Given the description of an element on the screen output the (x, y) to click on. 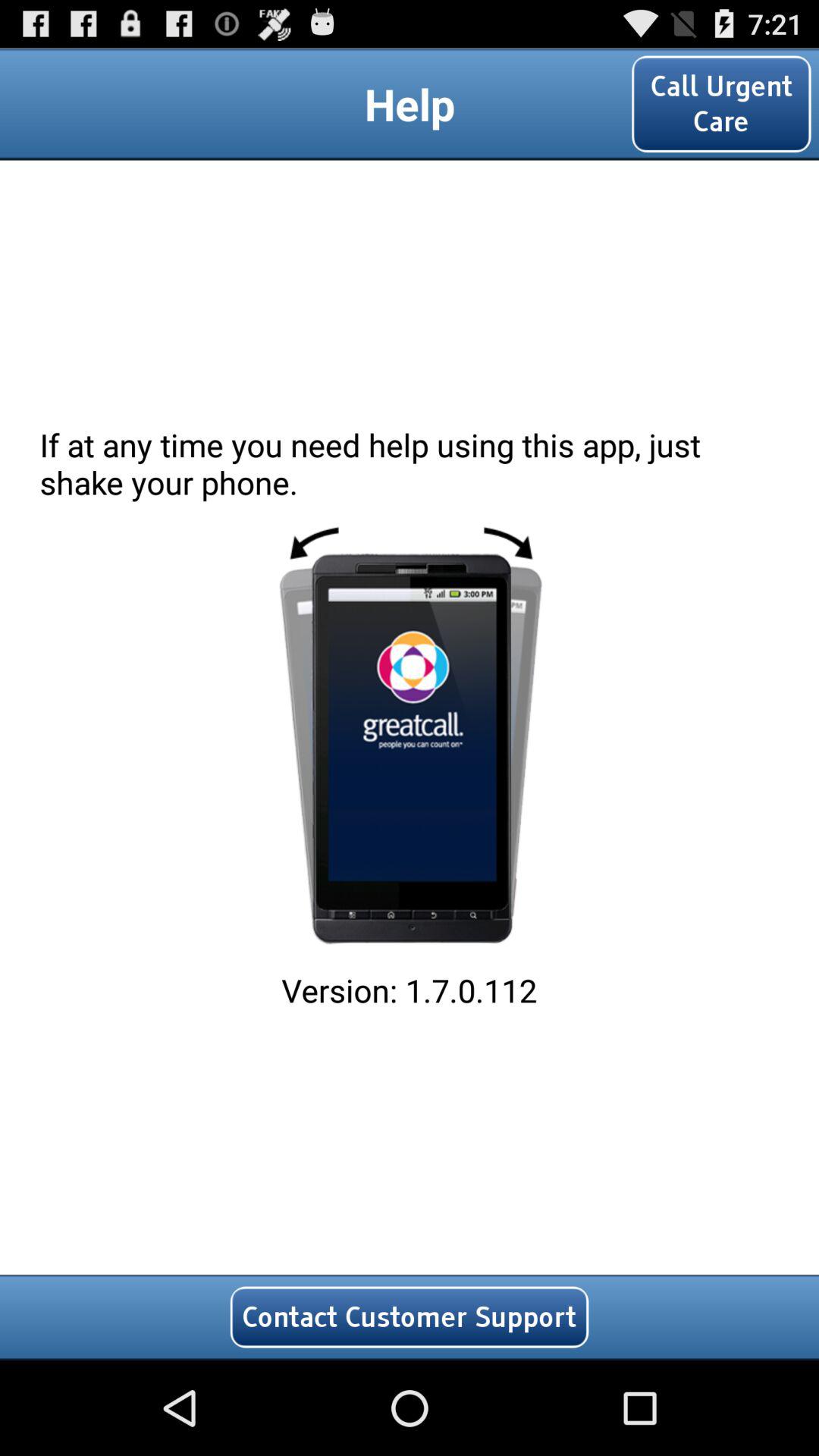
turn on the icon at the top right corner (721, 103)
